Given the description of an element on the screen output the (x, y) to click on. 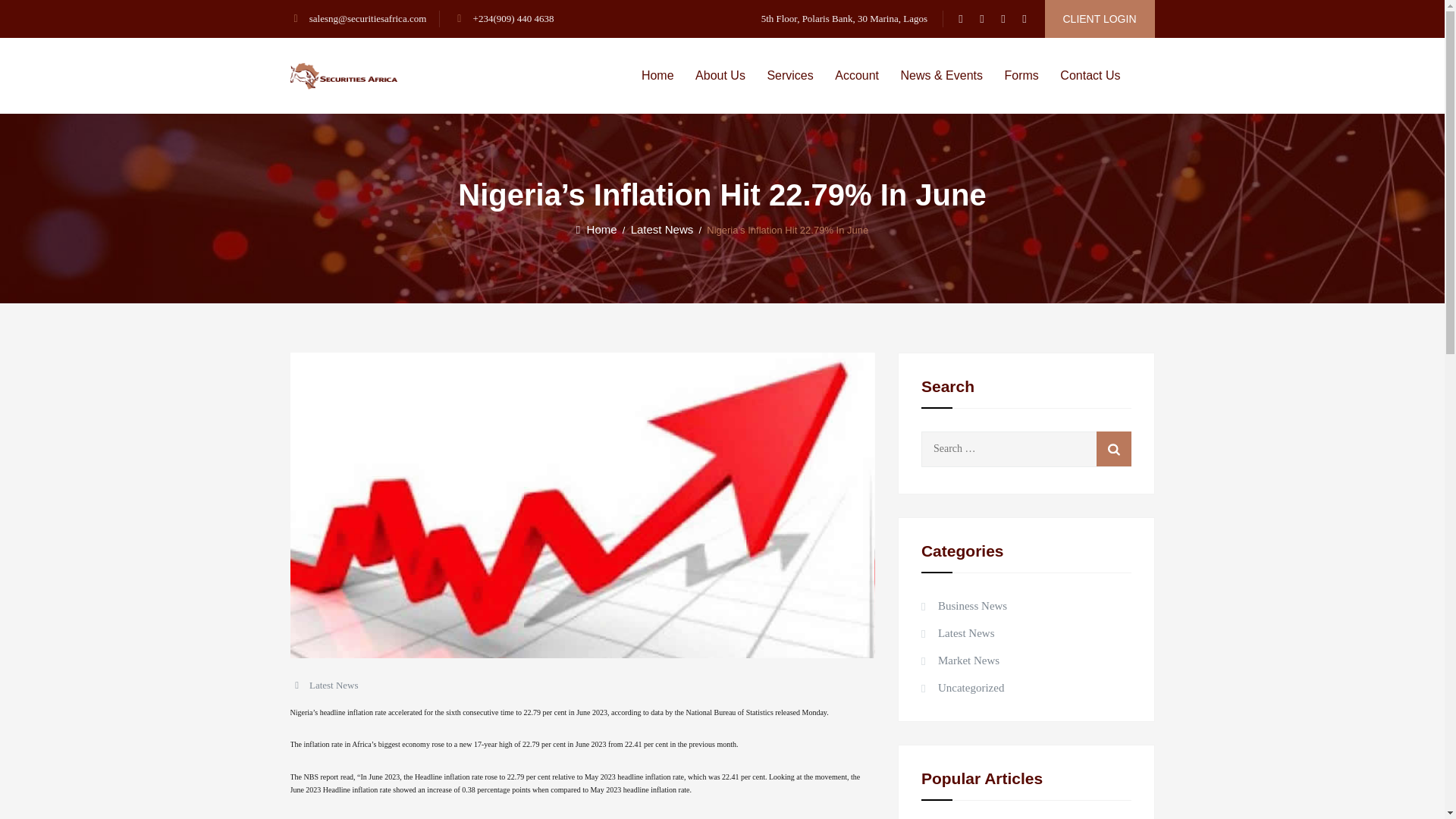
About Us (720, 75)
Home (657, 75)
Search (1113, 448)
Search (1113, 448)
Contact Us (1089, 75)
5th Floor, Polaris Bank, 30 Marina, Lagos (844, 18)
Latest News (333, 685)
Market News (959, 660)
Latest News (662, 228)
Business News (964, 605)
Search (1113, 448)
Go to the Latest News Category archives. (662, 228)
Latest News (957, 632)
Account (856, 75)
Services (789, 75)
